Given the description of an element on the screen output the (x, y) to click on. 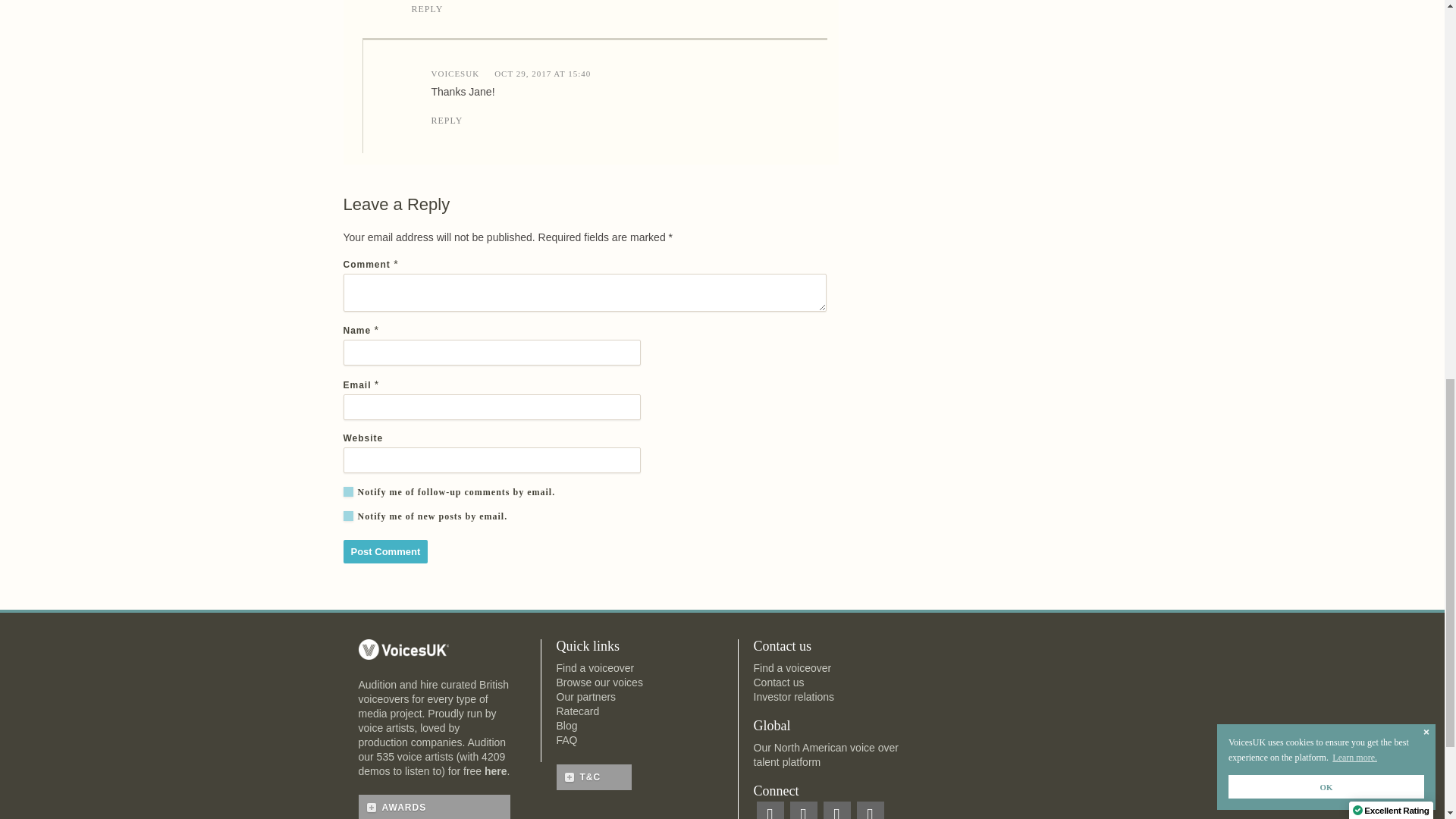
Post Comment (385, 551)
REPLY (618, 9)
VOICESUK (454, 74)
REPLY (628, 120)
Post Comment (385, 551)
